Given the description of an element on the screen output the (x, y) to click on. 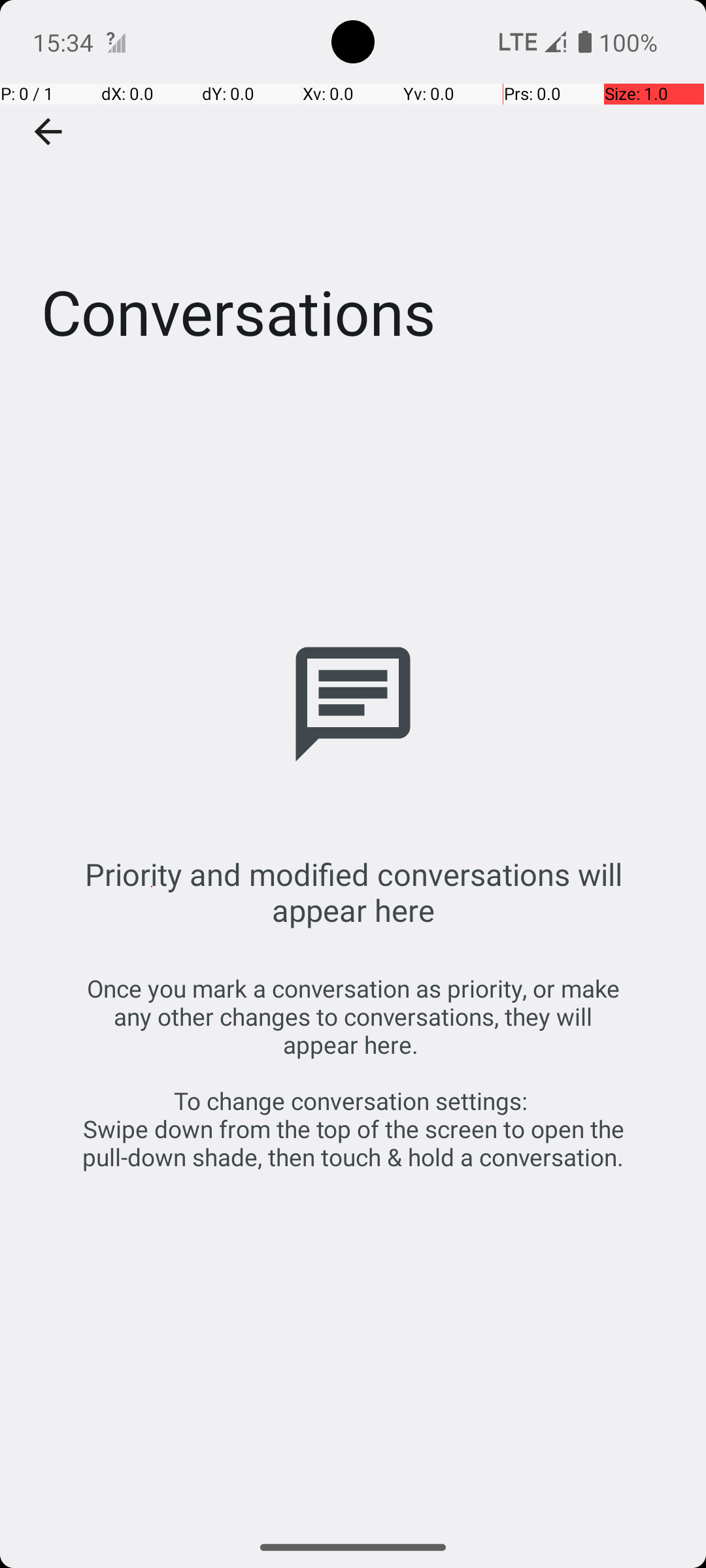
Priority and modified conversations will appear here Element type: android.widget.TextView (352, 891)
Once you mark a conversation as priority, or make any other changes to conversations, they will appear here. 

To change conversation settings: 
Swipe down from the top of the screen to open the pull-down shade, then touch & hold a conversation. Element type: android.widget.TextView (352, 1072)
